Given the description of an element on the screen output the (x, y) to click on. 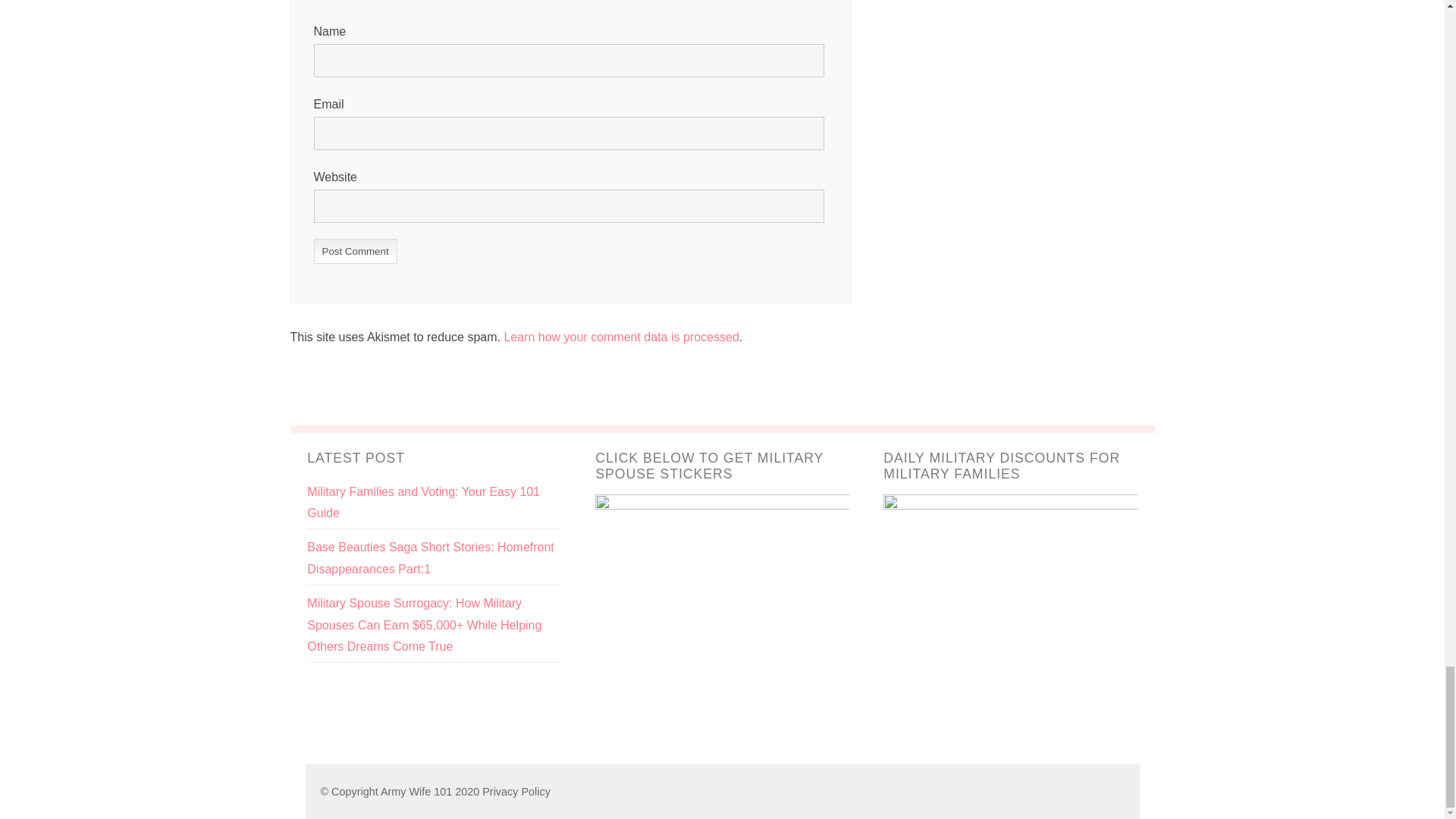
Post Comment (355, 251)
daily military discounts for military families (1010, 619)
